Given the description of an element on the screen output the (x, y) to click on. 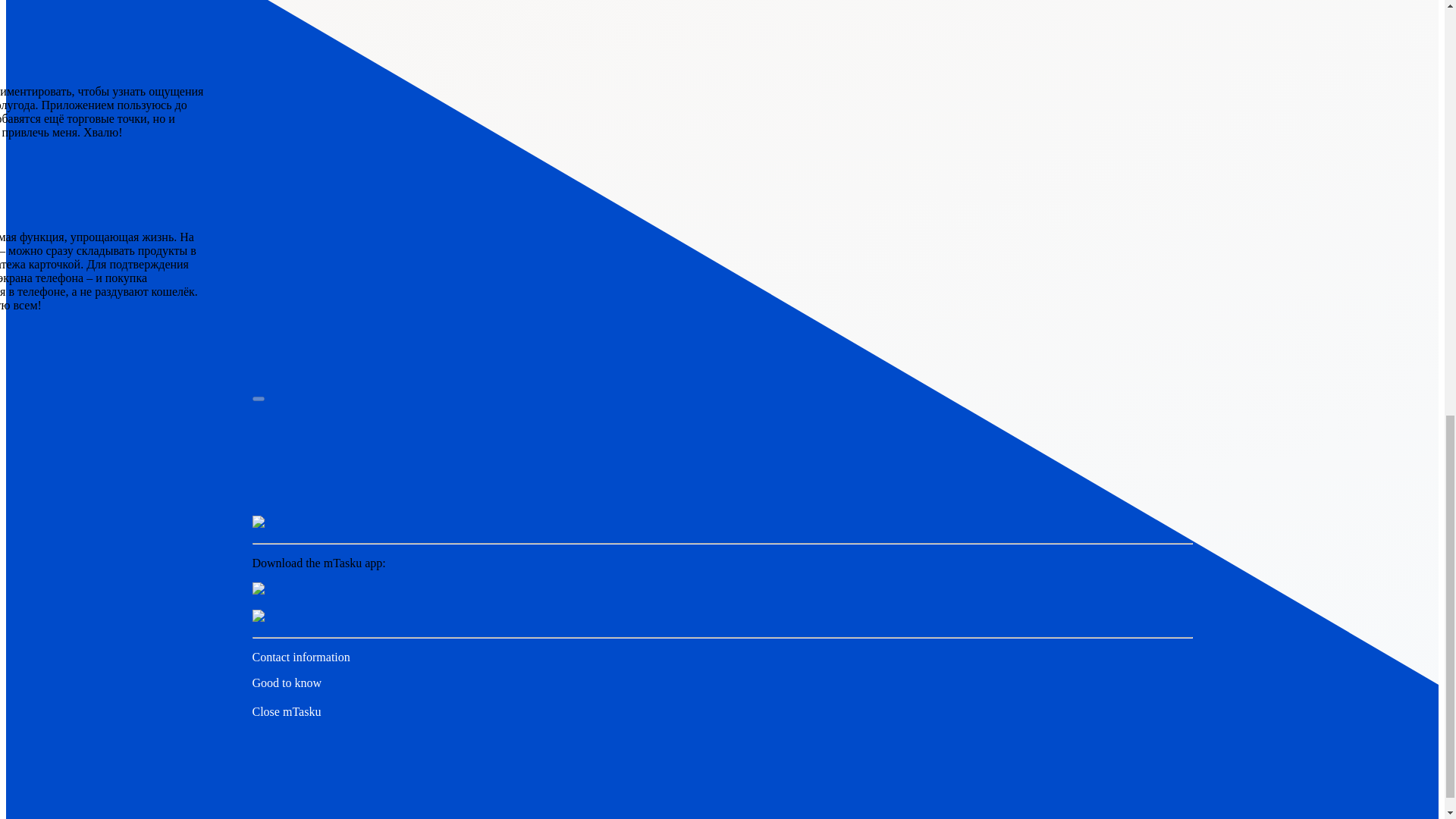
Close mTasku (285, 711)
Contact information (300, 656)
Good to know (286, 682)
